Given the description of an element on the screen output the (x, y) to click on. 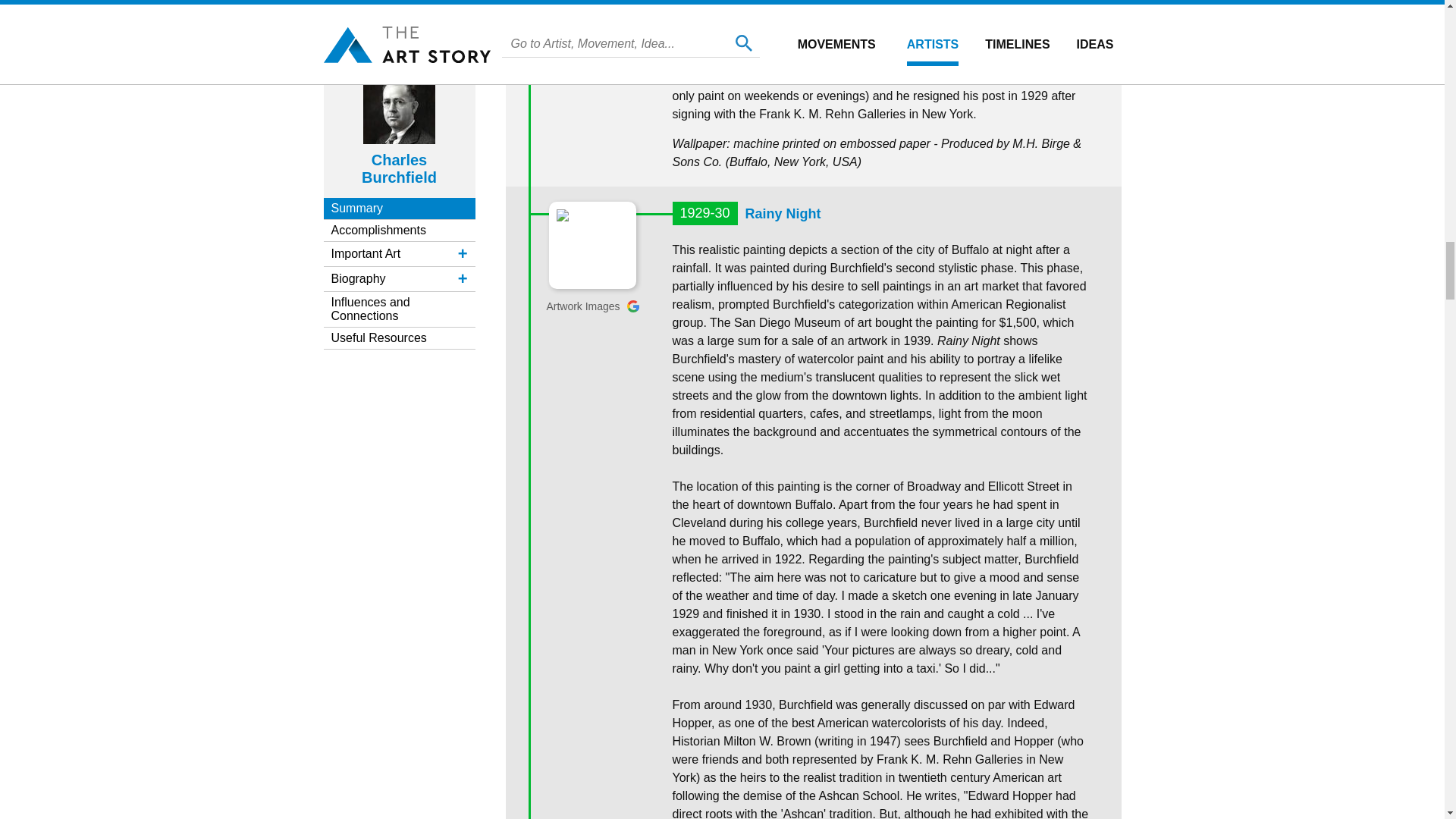
Artwork Images (592, 306)
